Given the description of an element on the screen output the (x, y) to click on. 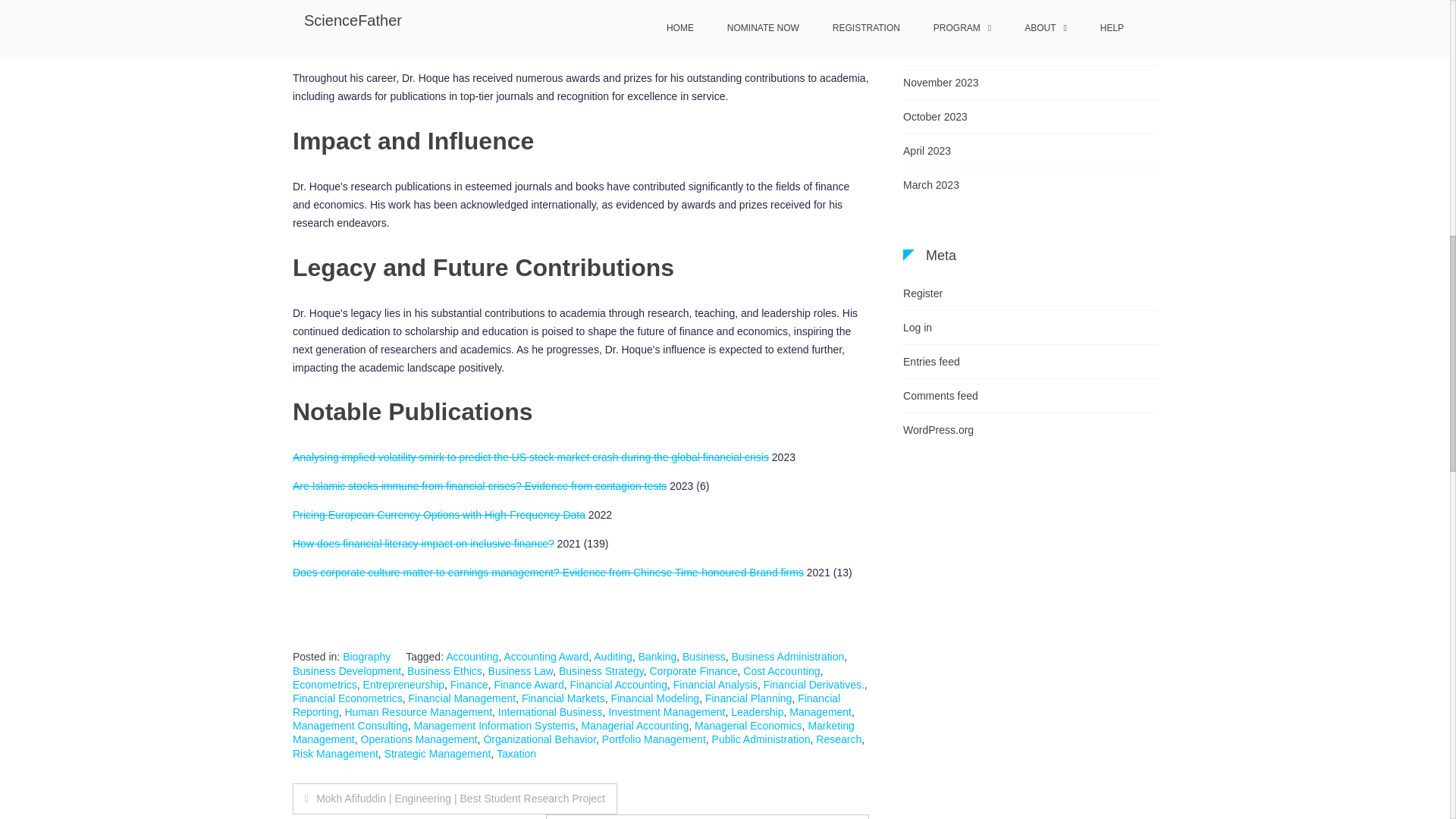
ScienceFather on X Twitter (531, 561)
1 (963, 672)
Submit (836, 816)
Login (997, 711)
